Given the description of an element on the screen output the (x, y) to click on. 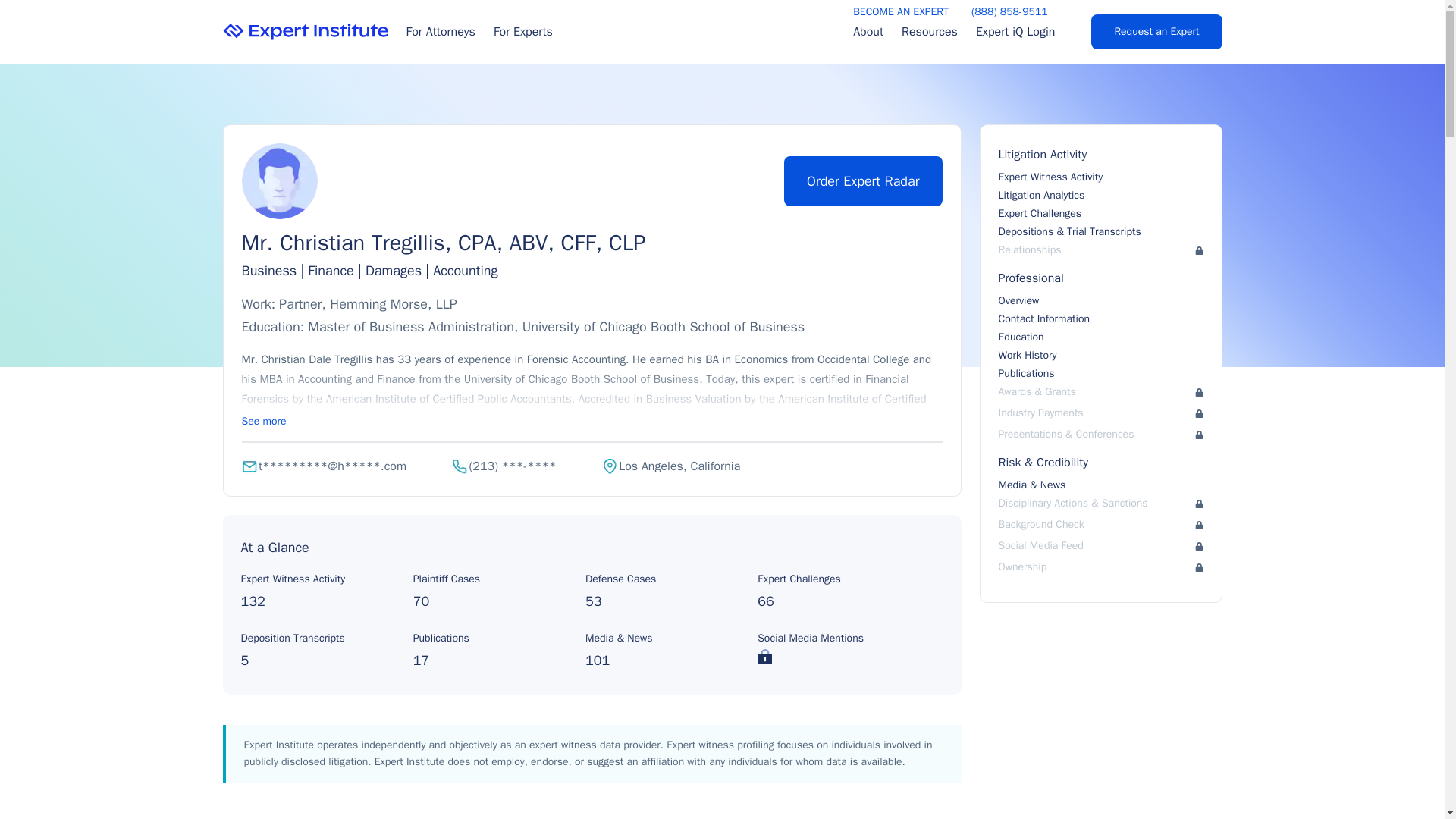
Order Expert Radar (863, 181)
Accounting (464, 270)
Damages (393, 270)
BECOME AN EXPERT (901, 11)
Business (269, 270)
Finance (330, 270)
Request an Expert (1155, 31)
See more (263, 421)
